Given the description of an element on the screen output the (x, y) to click on. 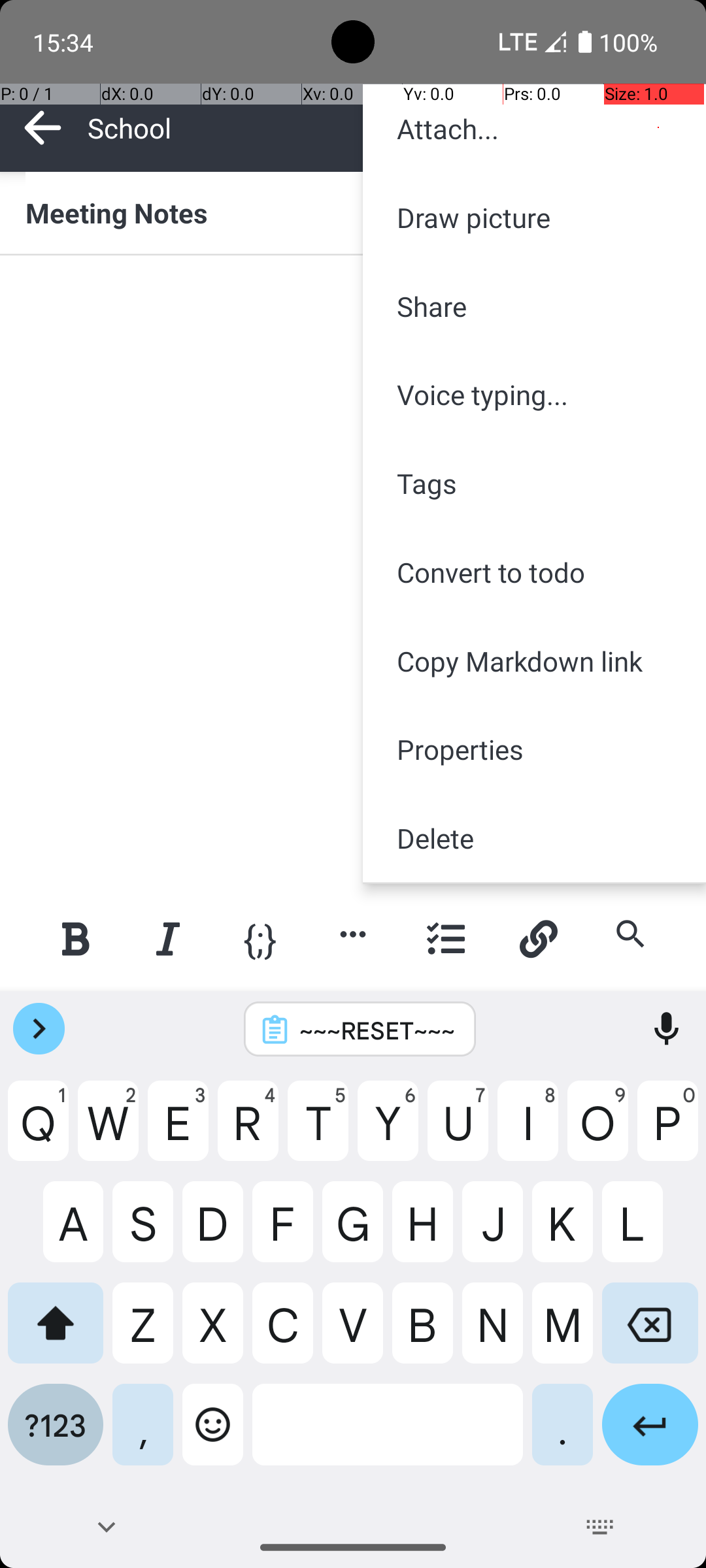
Meeting Notes Element type: android.widget.EditText (352, 212)
Attach... Element type: android.widget.TextView (534, 128)
Draw picture Element type: android.widget.TextView (534, 216)
Voice typing... Element type: android.widget.TextView (534, 394)
Tags Element type: android.widget.TextView (534, 483)
Convert to todo Element type: android.widget.TextView (534, 571)
Copy Markdown link Element type: android.widget.TextView (534, 660)
Properties Element type: android.widget.TextView (534, 749)

 Element type: android.widget.EditText (354, 297)
